Given the description of an element on the screen output the (x, y) to click on. 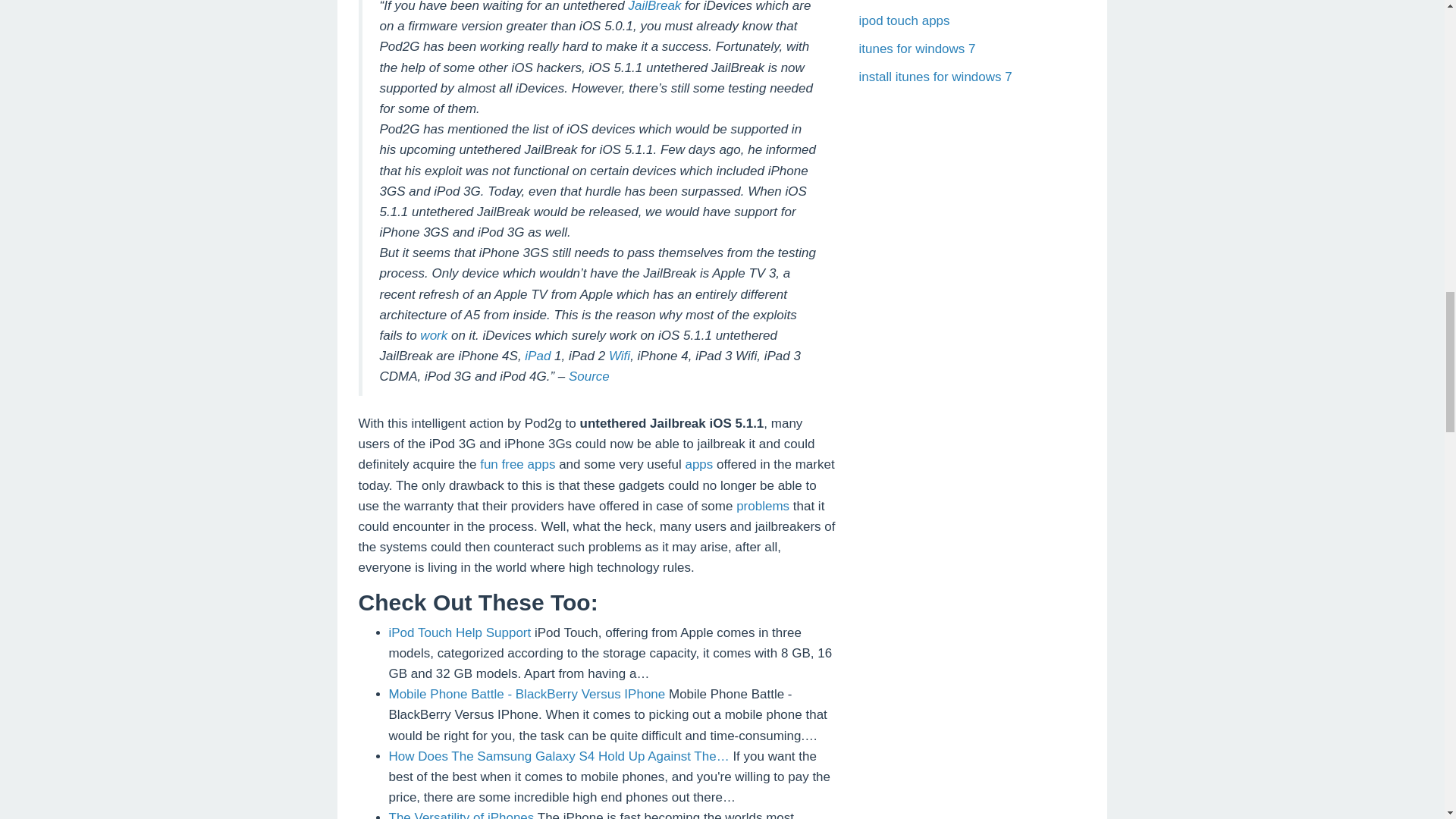
JailBreak (654, 6)
Wifi (619, 355)
iPod Touch Help Support (459, 632)
iPad (537, 355)
work (433, 335)
fun free apps (517, 464)
Source (589, 376)
Mobile Phone Battle - BlackBerry Versus IPhone (526, 694)
apps (698, 464)
